Given the description of an element on the screen output the (x, y) to click on. 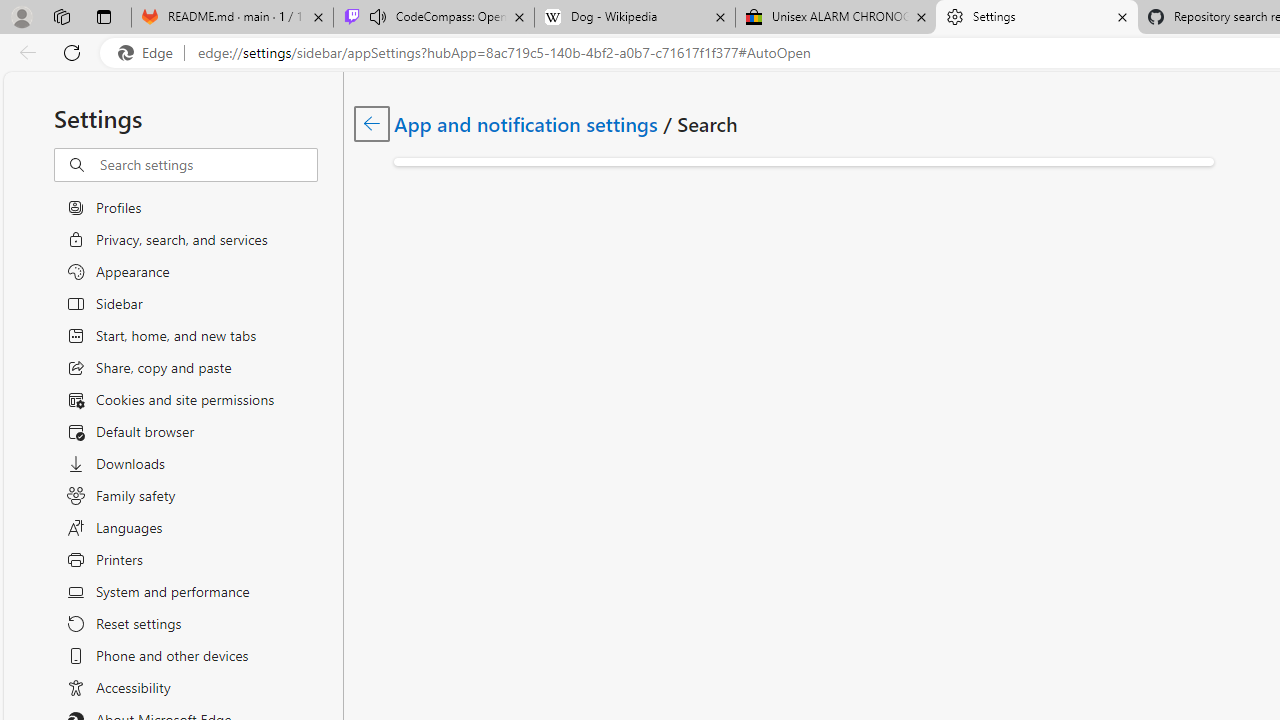
Dog - Wikipedia (634, 17)
